Given the description of an element on the screen output the (x, y) to click on. 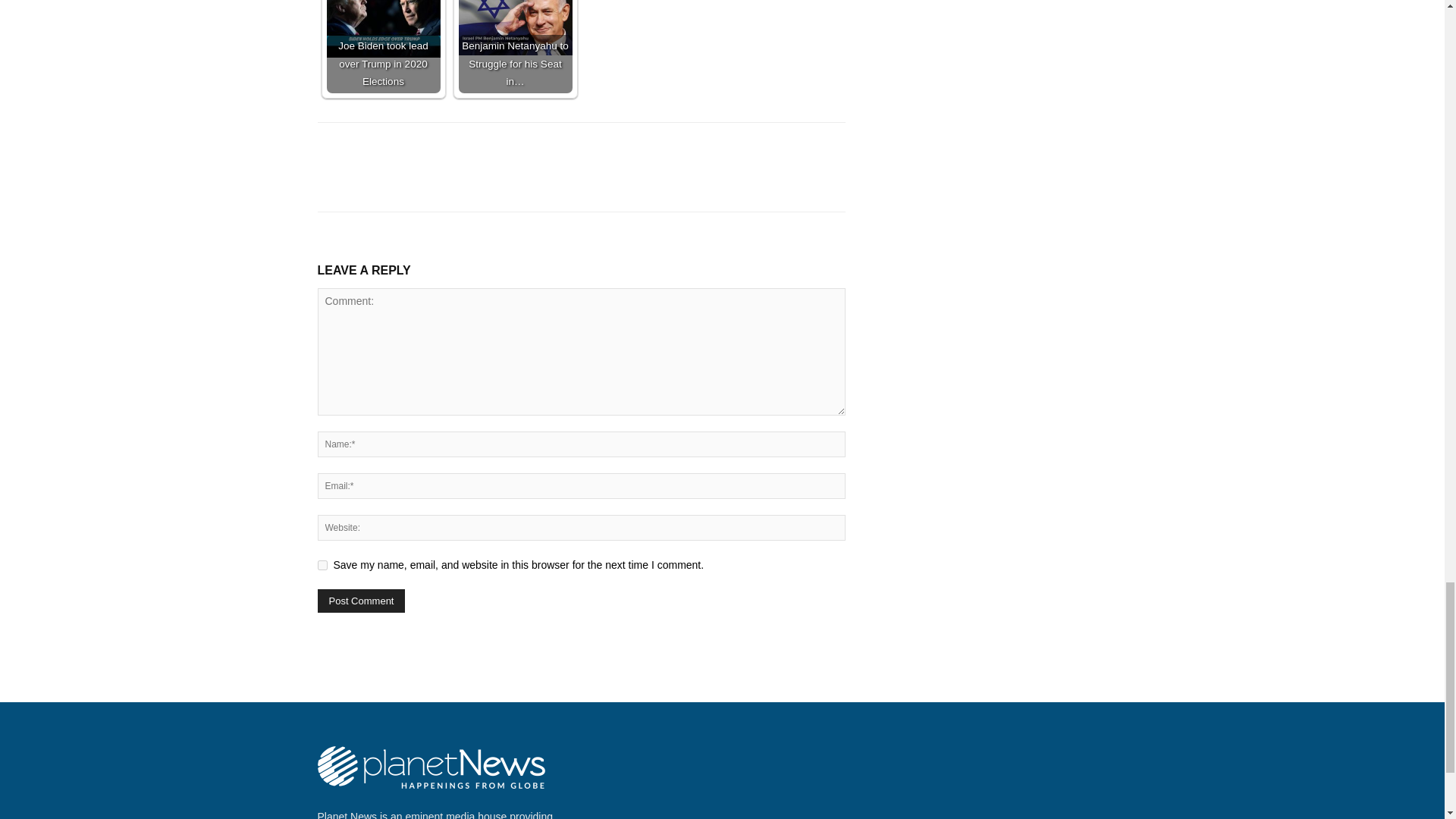
Post Comment (360, 600)
Joe Biden took lead over Trump in 2020 Elections (382, 28)
yes (321, 565)
